Given the description of an element on the screen output the (x, y) to click on. 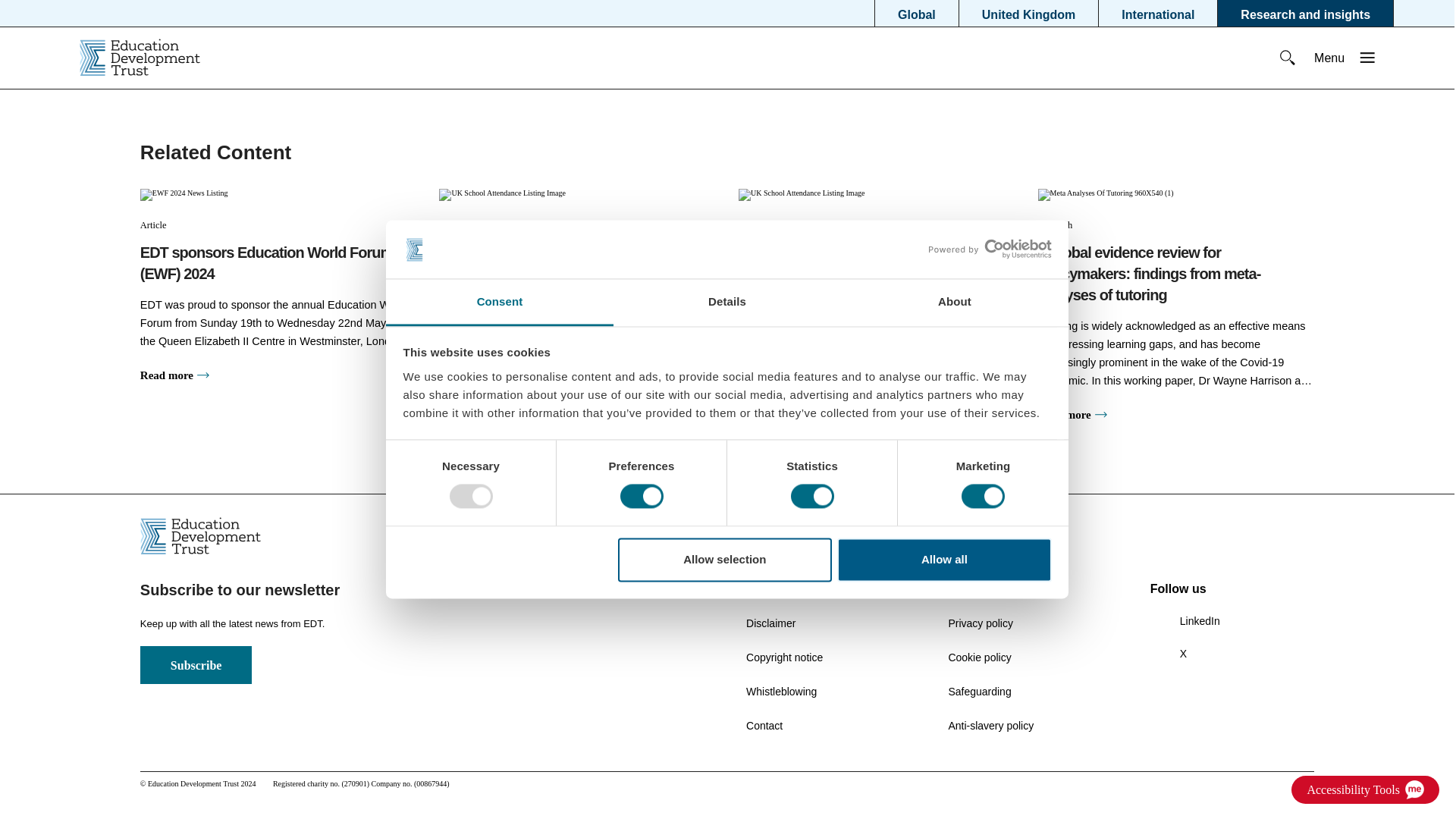
Terms and conditions (795, 589)
Work with us (978, 589)
